Given the description of an element on the screen output the (x, y) to click on. 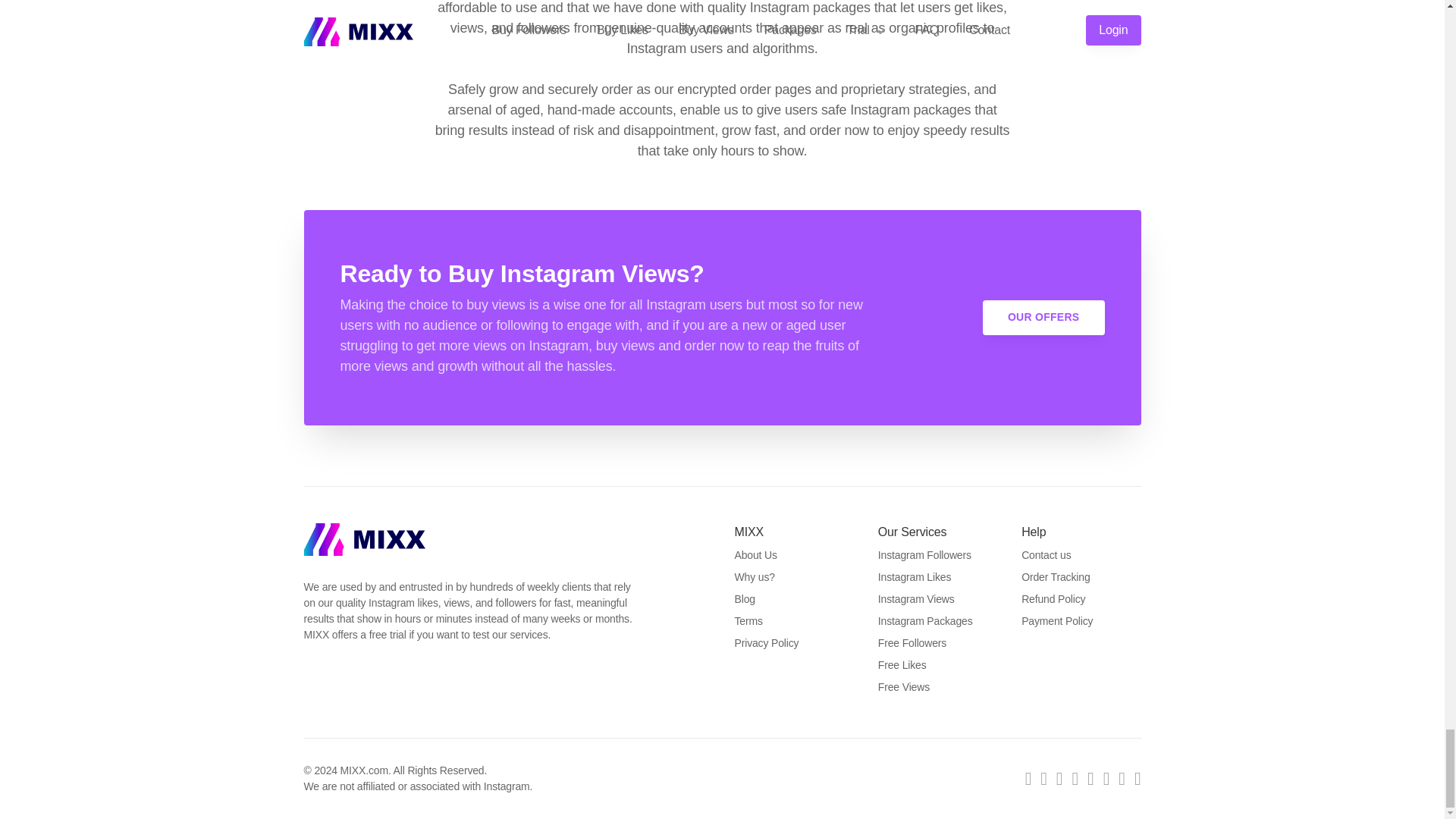
Terms (747, 621)
Privacy Policy (765, 643)
OUR OFFERS (1043, 317)
About Us (754, 554)
Blog (743, 598)
Why us? (753, 576)
